Given the description of an element on the screen output the (x, y) to click on. 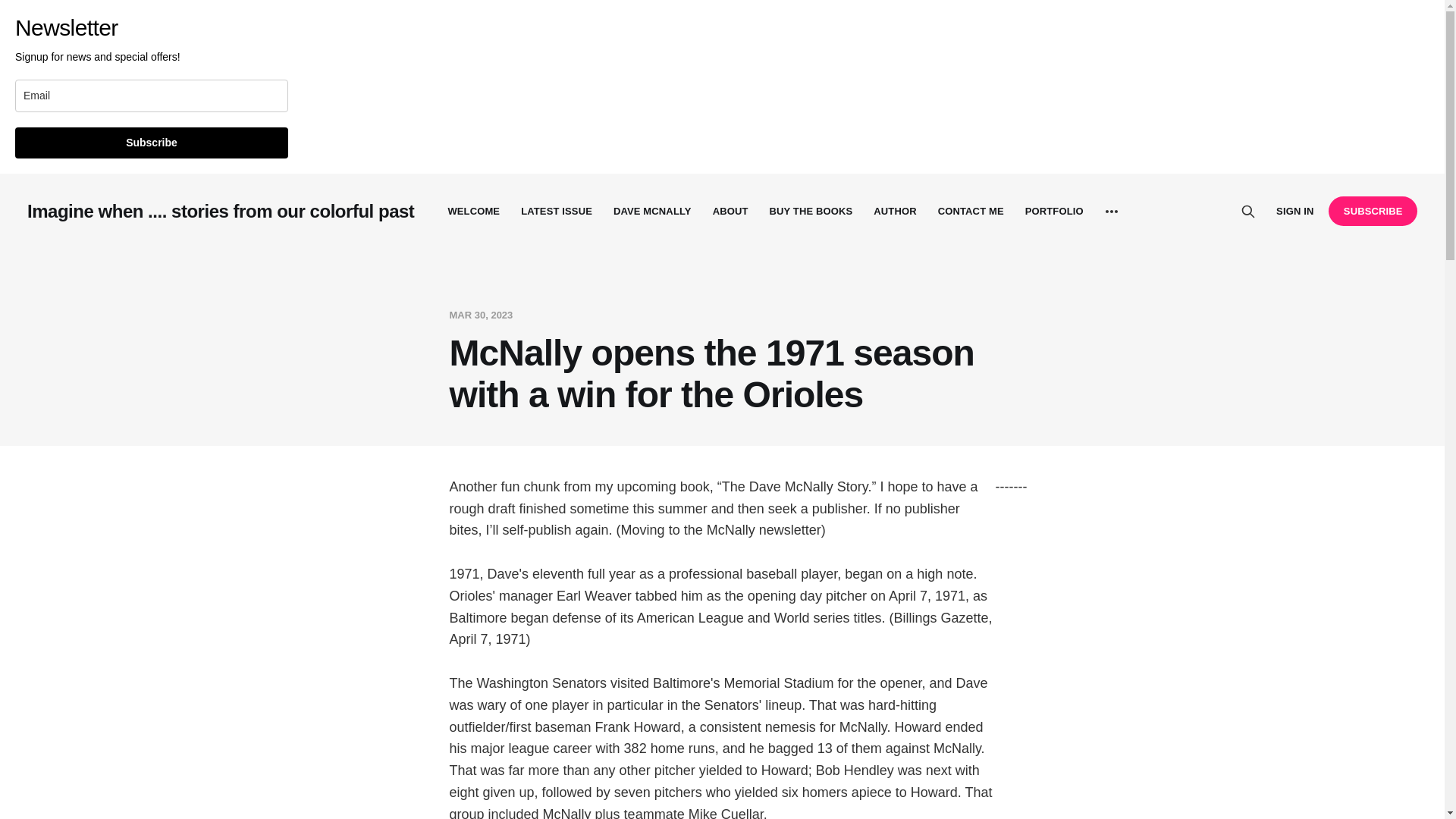
SIGN IN (1294, 211)
CONTACT ME (970, 211)
LATEST ISSUE (556, 211)
DAVE MCNALLY (651, 211)
WELCOME (472, 211)
ABOUT (730, 211)
PORTFOLIO (1054, 211)
Subscribe (151, 142)
BUY THE BOOKS (811, 211)
SUBSCRIBE (1371, 210)
